Given the description of an element on the screen output the (x, y) to click on. 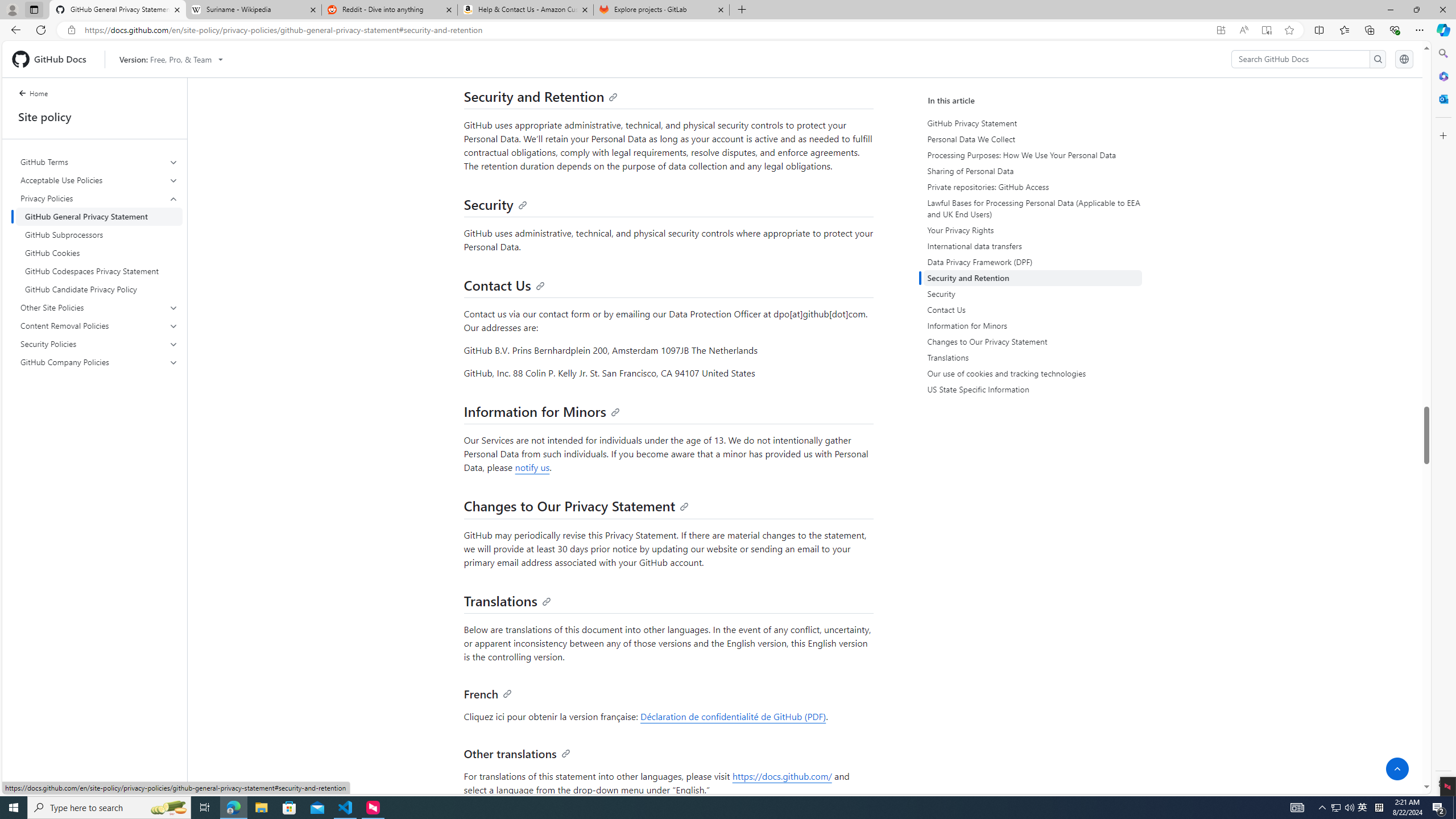
Select language: current language is English (1403, 58)
Content Removal Policies (99, 325)
International data transfers (1034, 245)
GitHub Candidate Privacy Policy (99, 289)
Our use of cookies and tracking technologies (1034, 373)
GitHub Codespaces Privacy Statement (99, 271)
Acceptable Use Policies (99, 180)
